Given the description of an element on the screen output the (x, y) to click on. 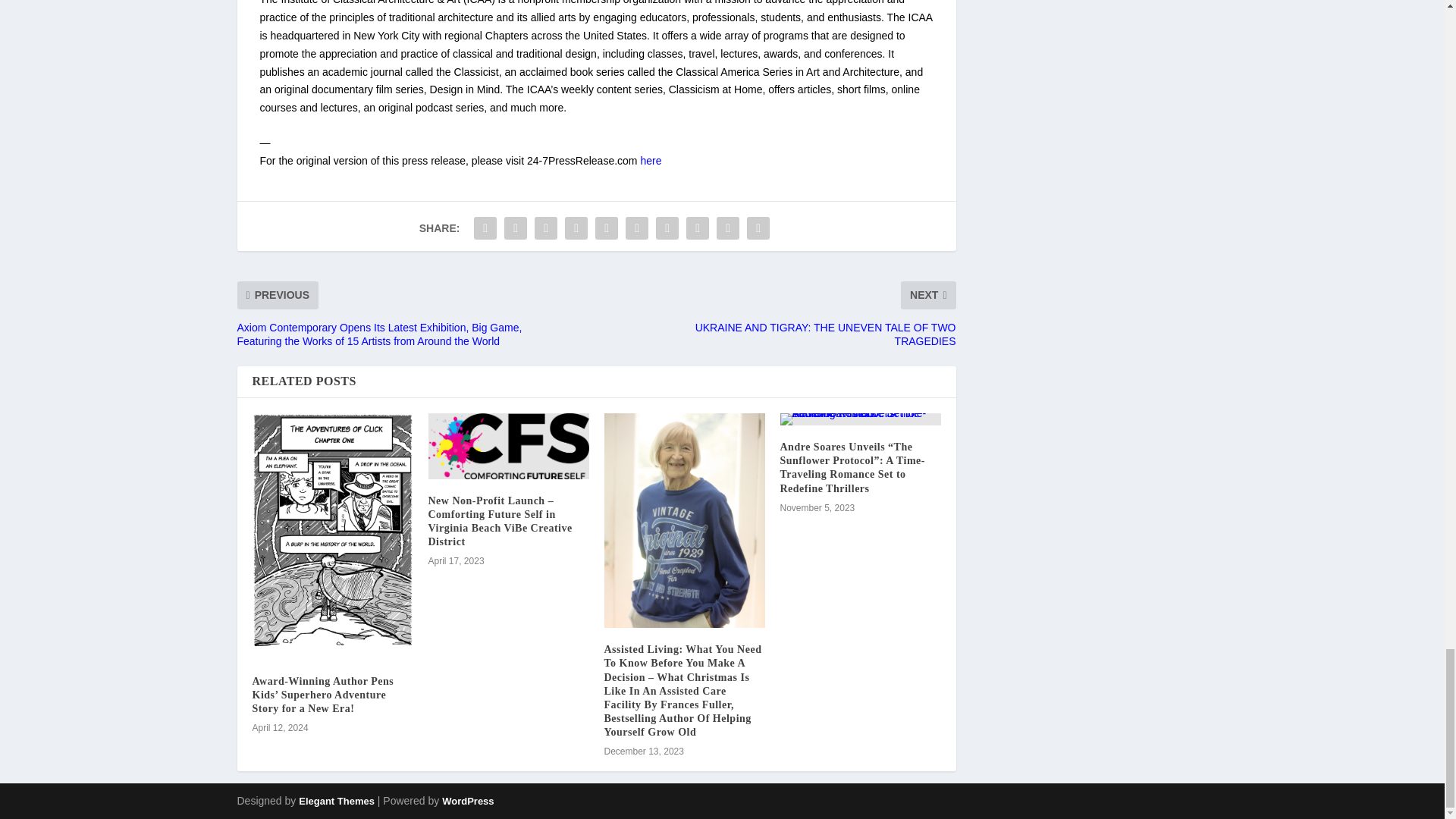
here (650, 160)
